Given the description of an element on the screen output the (x, y) to click on. 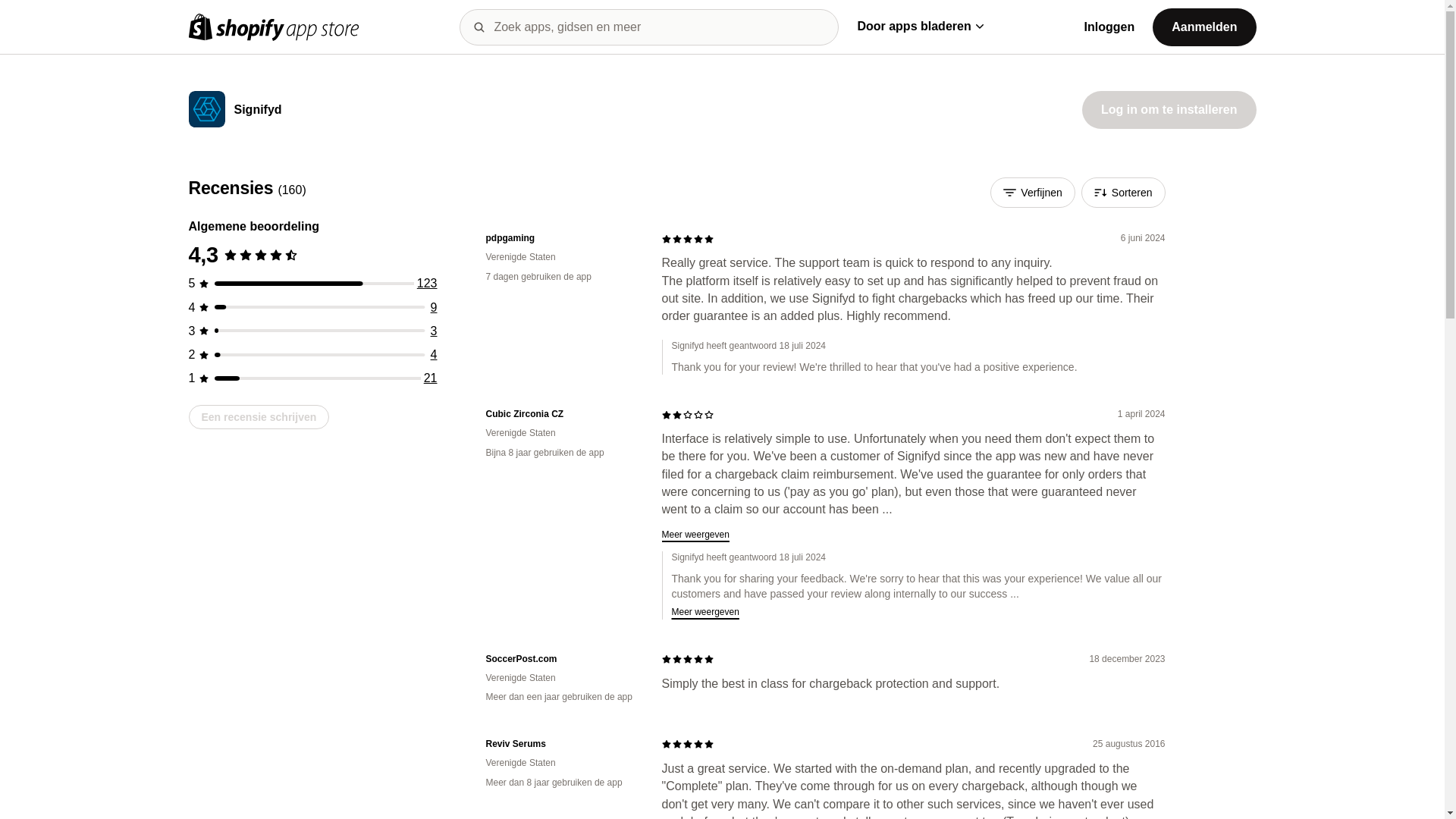
Signifyd (256, 110)
Reviv Serums (560, 744)
SoccerPost.com  (560, 658)
Inloggen (1109, 27)
21 (430, 377)
Cubic Zirconia CZ (560, 413)
123 (427, 282)
Log in om te installeren (1168, 109)
Door apps bladeren (919, 26)
Aanmelden (1204, 26)
